Given the description of an element on the screen output the (x, y) to click on. 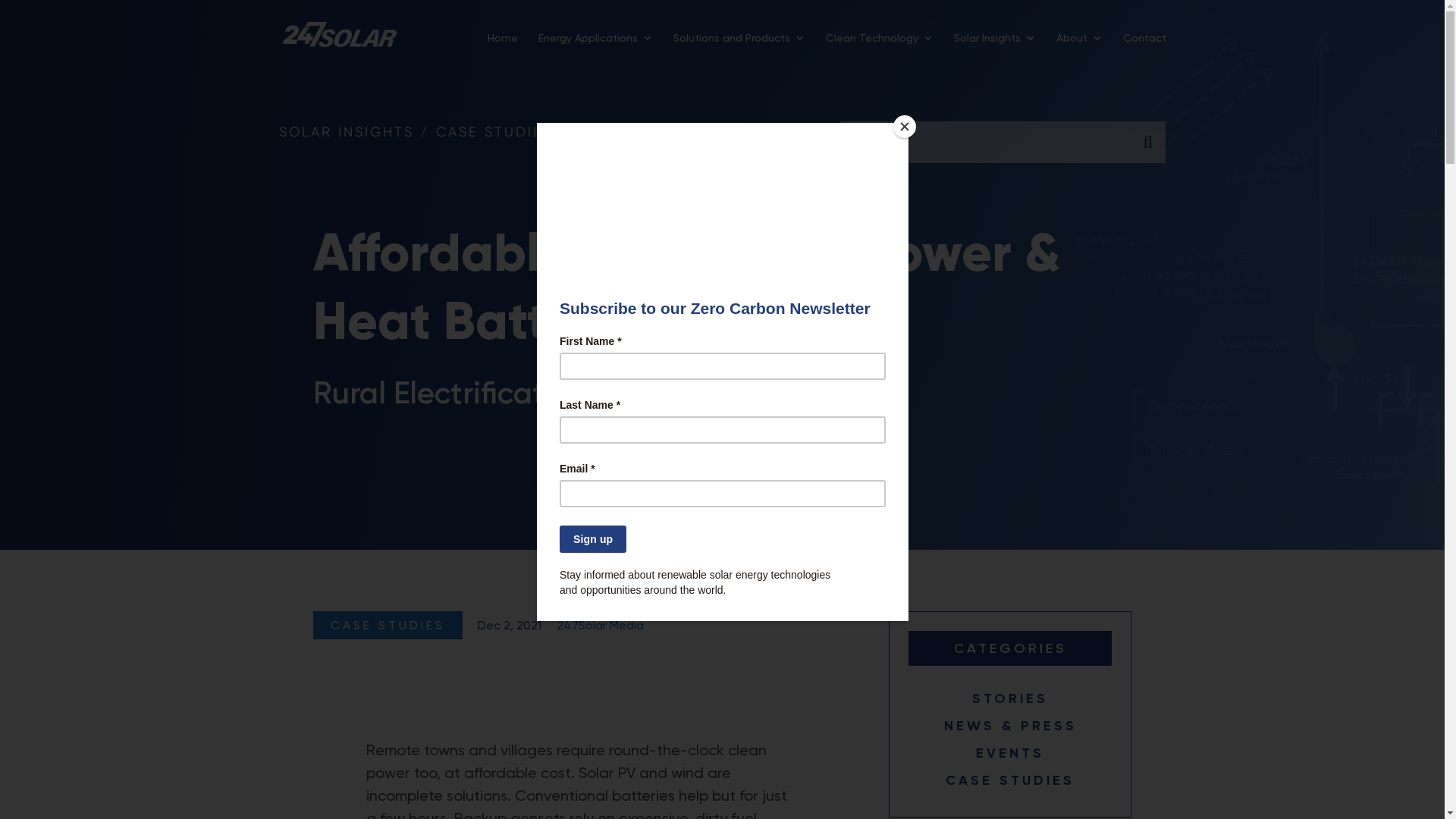
Solutions and Products Element type: text (739, 50)
Home Element type: text (501, 50)
Solar Insights Element type: text (994, 50)
CASE STUDIES Element type: text (1009, 779)
Energy Applications Element type: text (595, 50)
247Solar Media Element type: text (599, 625)
STORIES Element type: text (1010, 698)
EVENTS Element type: text (1009, 752)
About Element type: text (1078, 50)
Search Element type: text (1146, 142)
Contact Element type: text (1143, 50)
NEWS & PRESS Element type: text (1010, 725)
CASE STUDIES Element type: text (386, 625)
Clean Technology Element type: text (878, 50)
